Given the description of an element on the screen output the (x, y) to click on. 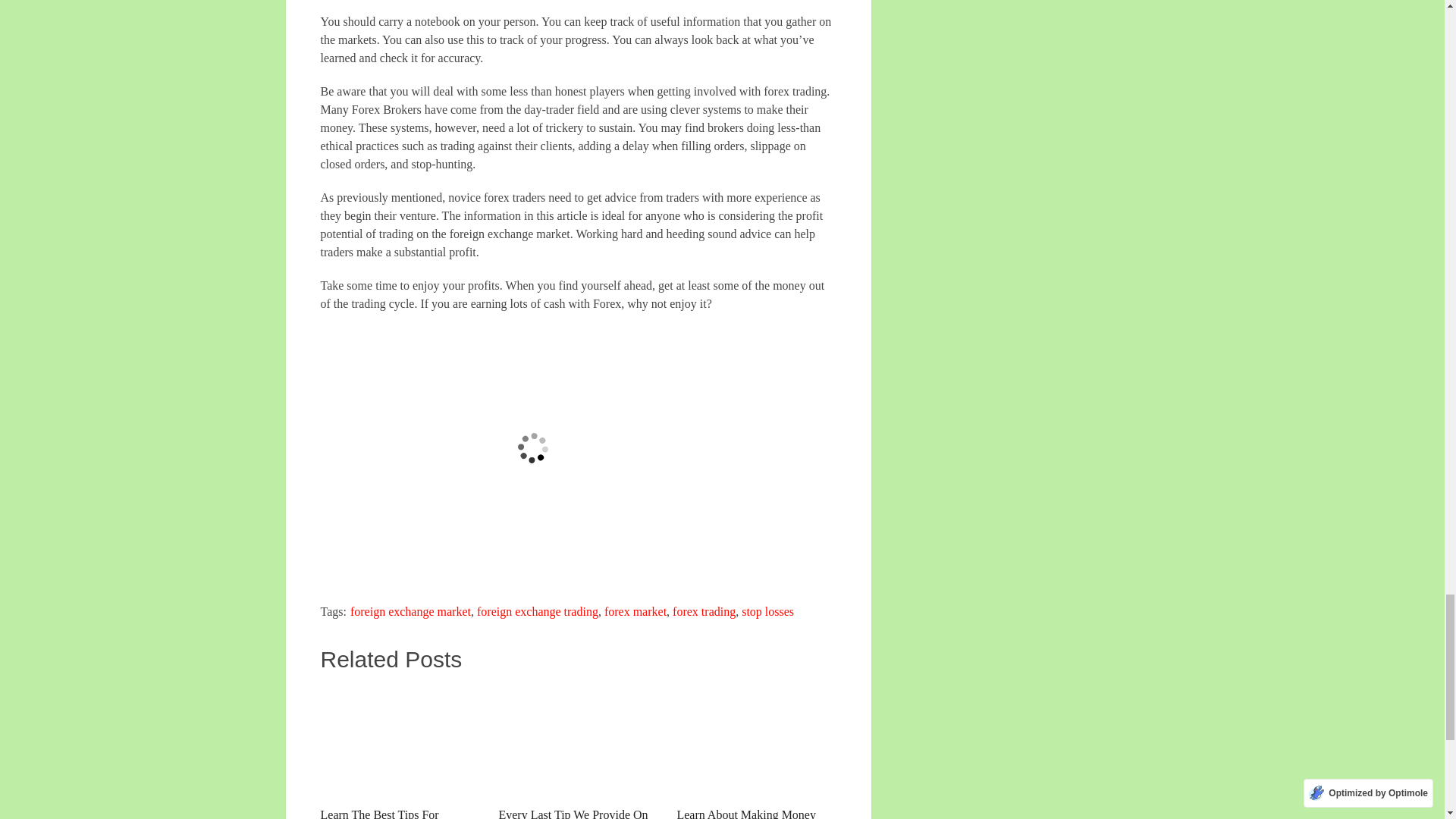
forex trading (703, 611)
Learn About Making Money Online With This Article (756, 751)
stop losses (767, 611)
forex market (635, 611)
Learn The Best Tips For Successful Forex Trading (399, 751)
foreign exchange trading (537, 611)
foreign exchange market (410, 611)
